Given the description of an element on the screen output the (x, y) to click on. 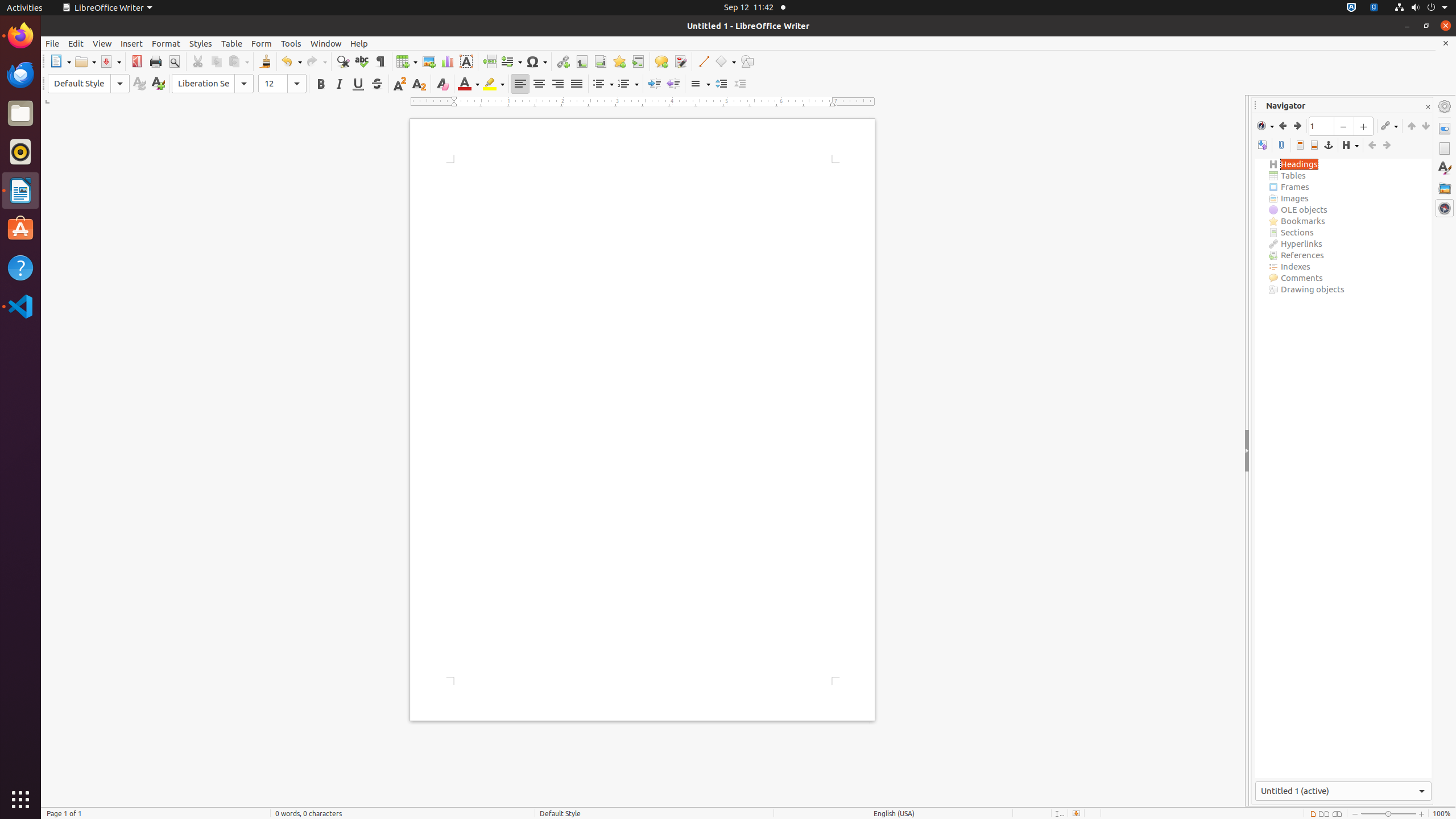
Page Element type: radio-button (1444, 148)
Help Element type: push-button (20, 267)
Basic Shapes Element type: push-button (724, 61)
Insert Element type: menu (131, 43)
Ubuntu Software Element type: push-button (20, 229)
